Given the description of an element on the screen output the (x, y) to click on. 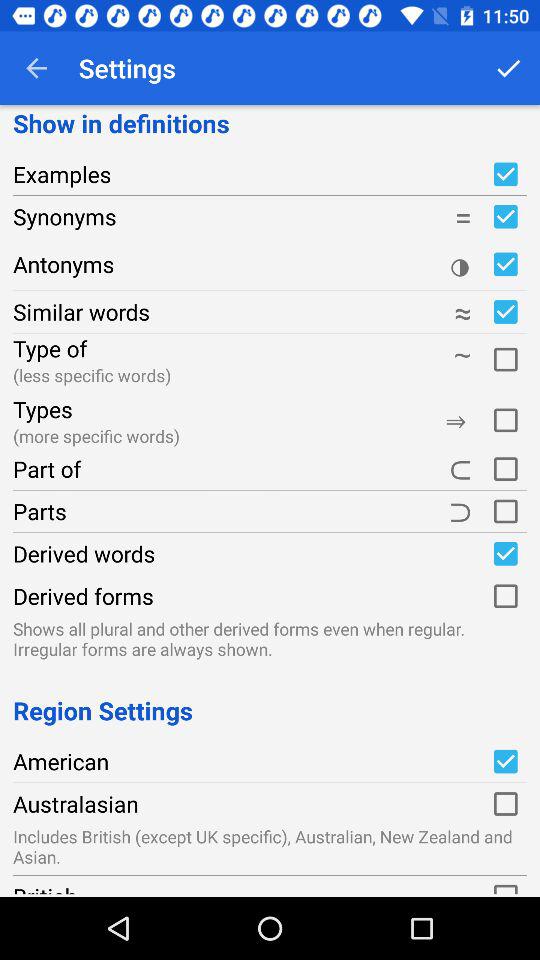
open the item above the show in definitions (36, 68)
